Given the description of an element on the screen output the (x, y) to click on. 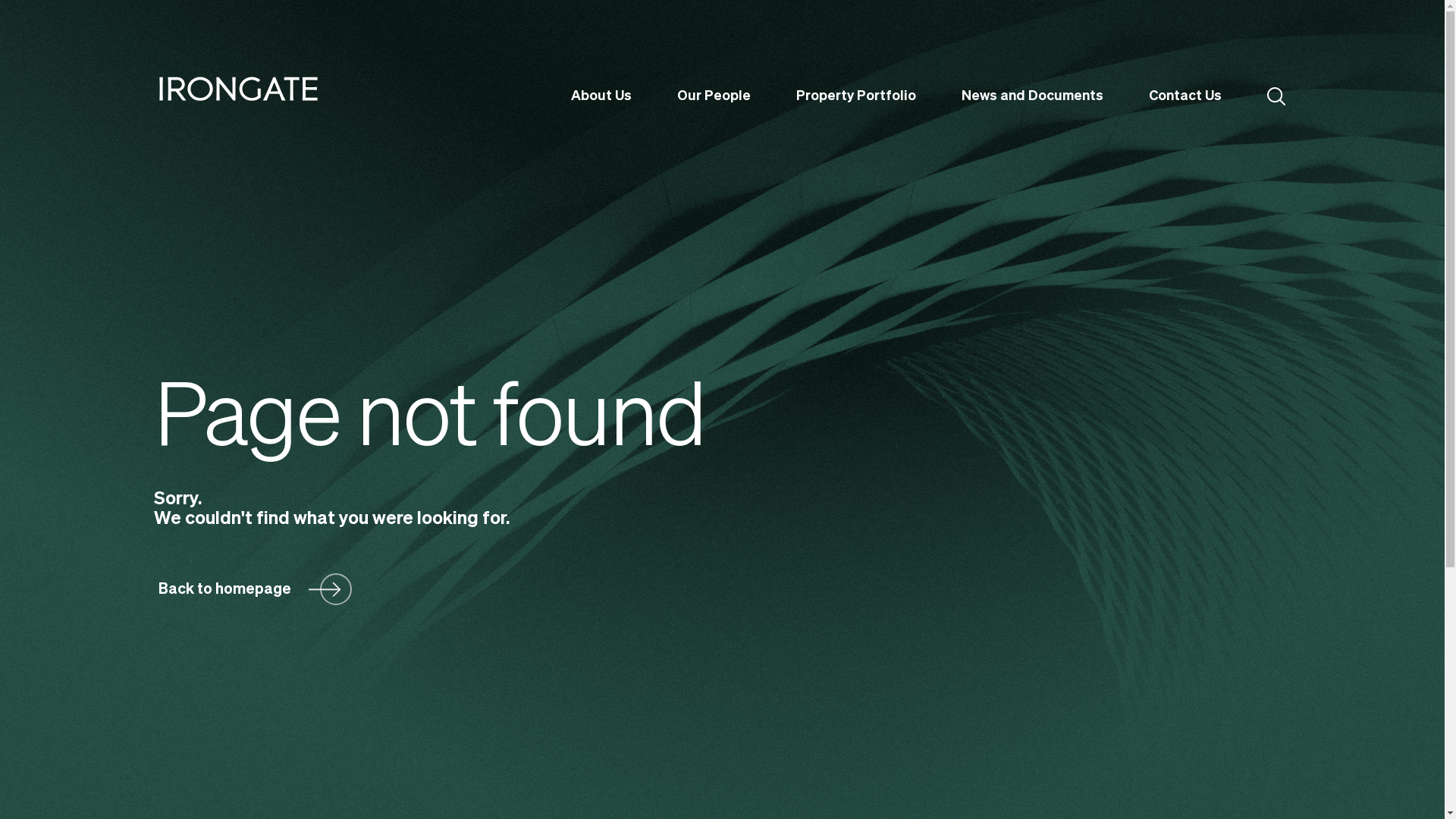
About Us Element type: text (601, 92)
Contact Us Element type: text (1184, 92)
Go Element type: text (864, 148)
Our People Element type: text (713, 92)
News and Documents Element type: text (1032, 92)
Property Portfolio Element type: text (856, 92)
Back to homepage Element type: text (254, 588)
